Given the description of an element on the screen output the (x, y) to click on. 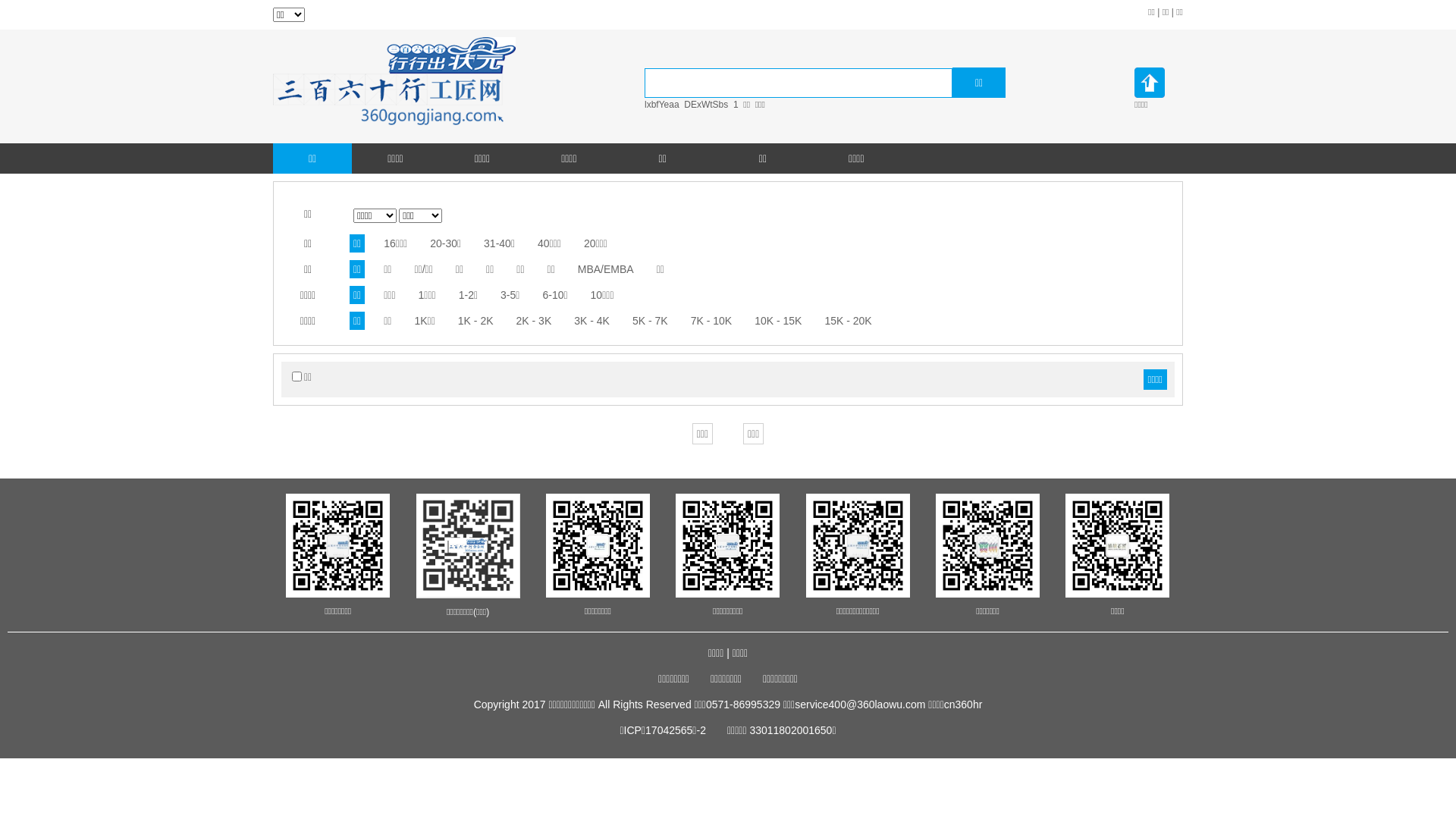
5K - 7K Element type: text (650, 320)
2K - 3K Element type: text (534, 320)
10K - 15K Element type: text (777, 320)
MBA/EMBA Element type: text (605, 269)
3K - 4K Element type: text (591, 320)
15K - 20K Element type: text (847, 320)
1K - 2K Element type: text (475, 320)
7K - 10K Element type: text (710, 320)
